Given the description of an element on the screen output the (x, y) to click on. 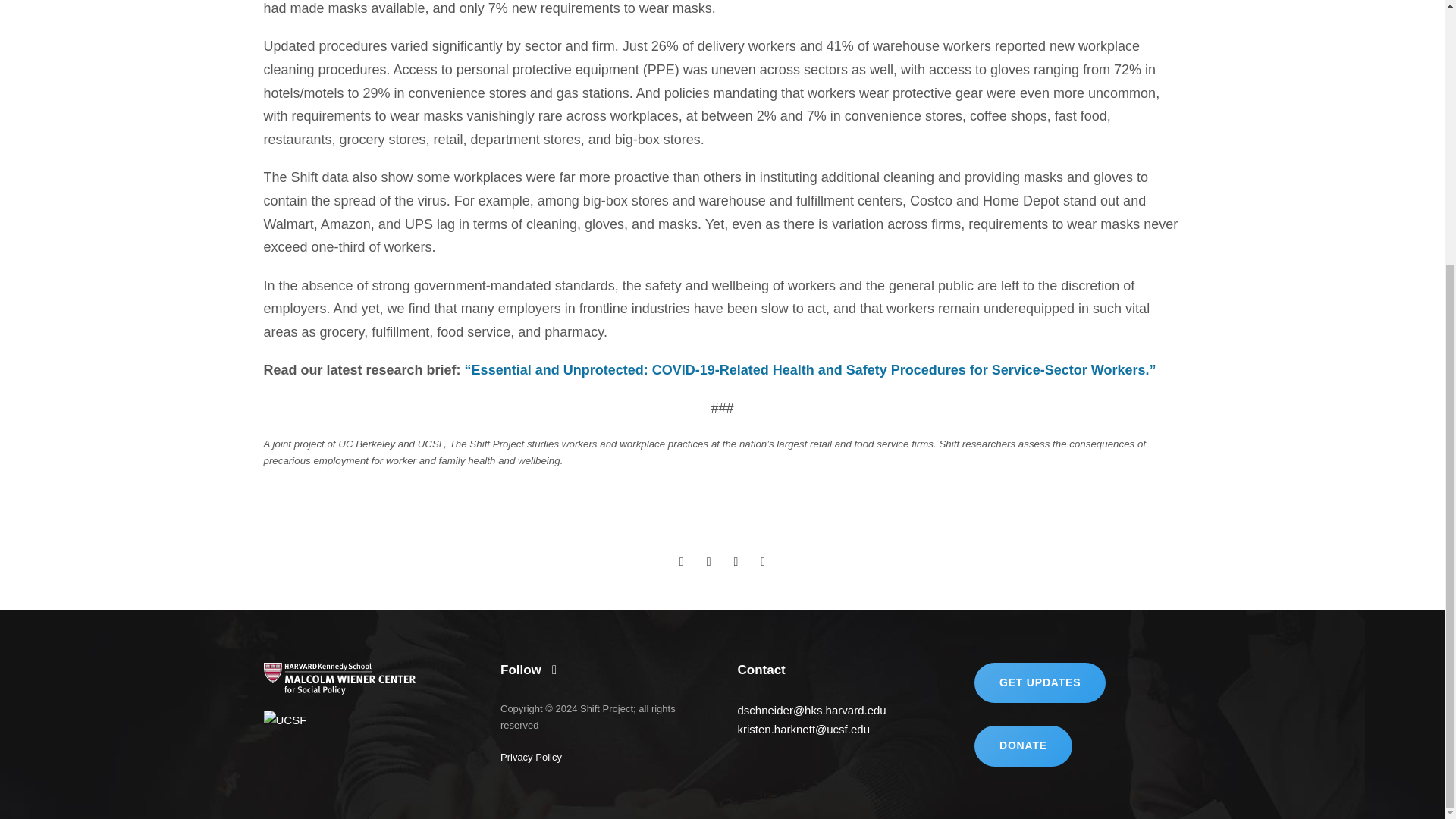
Privacy Policy (531, 756)
DONATE (1022, 745)
Follow   (528, 669)
GET UPDATES (1039, 682)
